Given the description of an element on the screen output the (x, y) to click on. 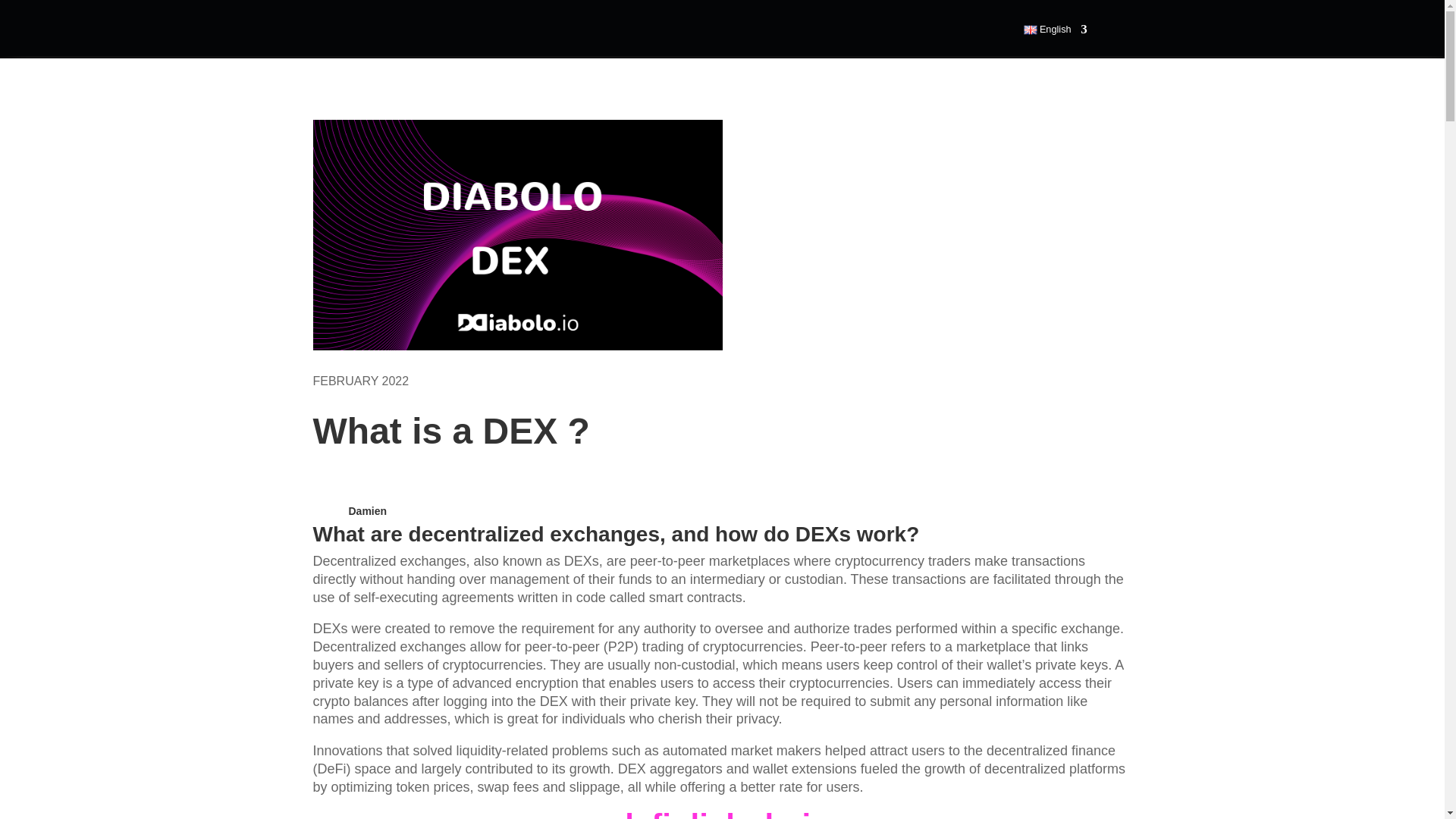
English (1053, 28)
Diabolo Dex (517, 234)
